Given the description of an element on the screen output the (x, y) to click on. 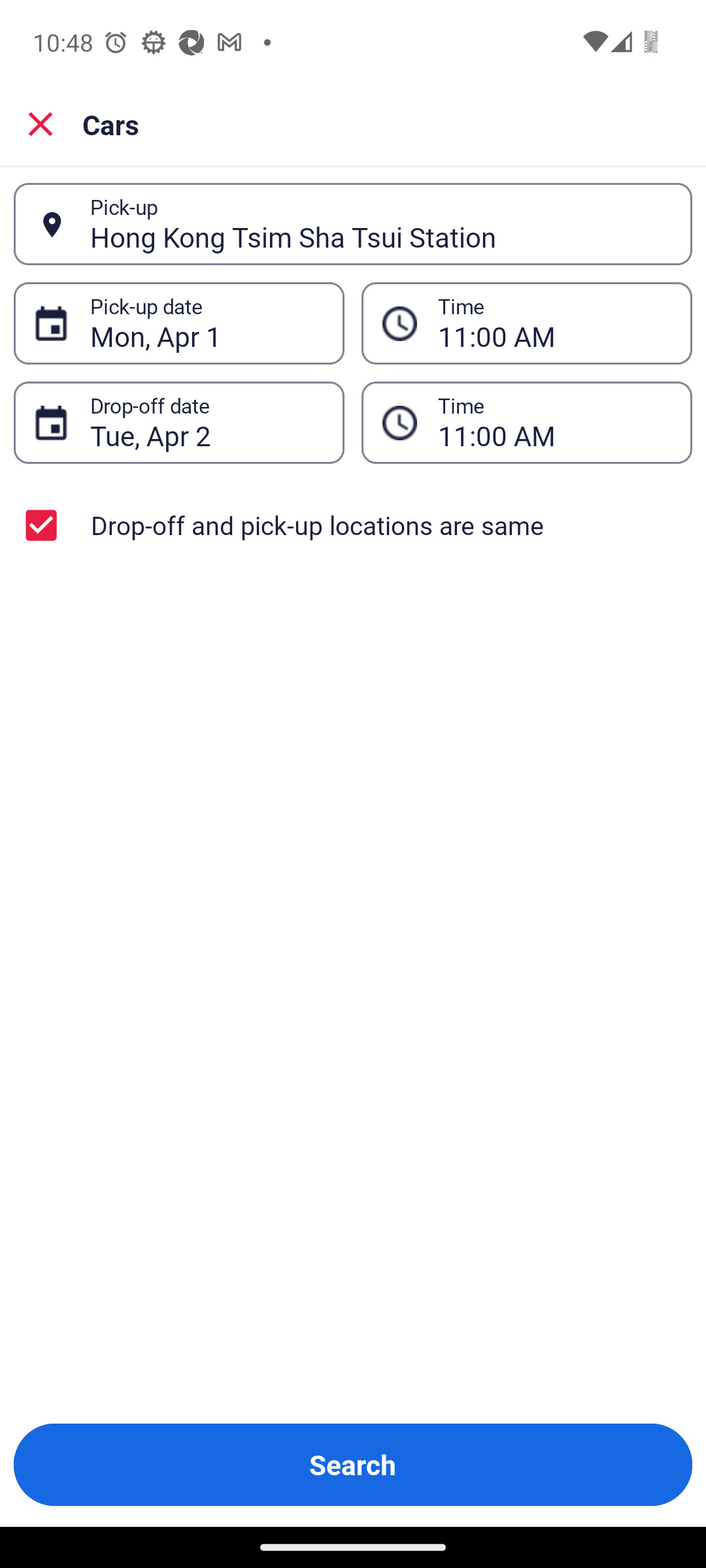
Close search screen (41, 124)
Hong Kong Tsim Sha Tsui Station (380, 223)
Mon, Apr 1 (206, 322)
11:00 AM (554, 322)
Tue, Apr 2 (206, 423)
11:00 AM (554, 423)
Drop-off and pick-up locations are same (352, 525)
Search Button Search (352, 1464)
